Given the description of an element on the screen output the (x, y) to click on. 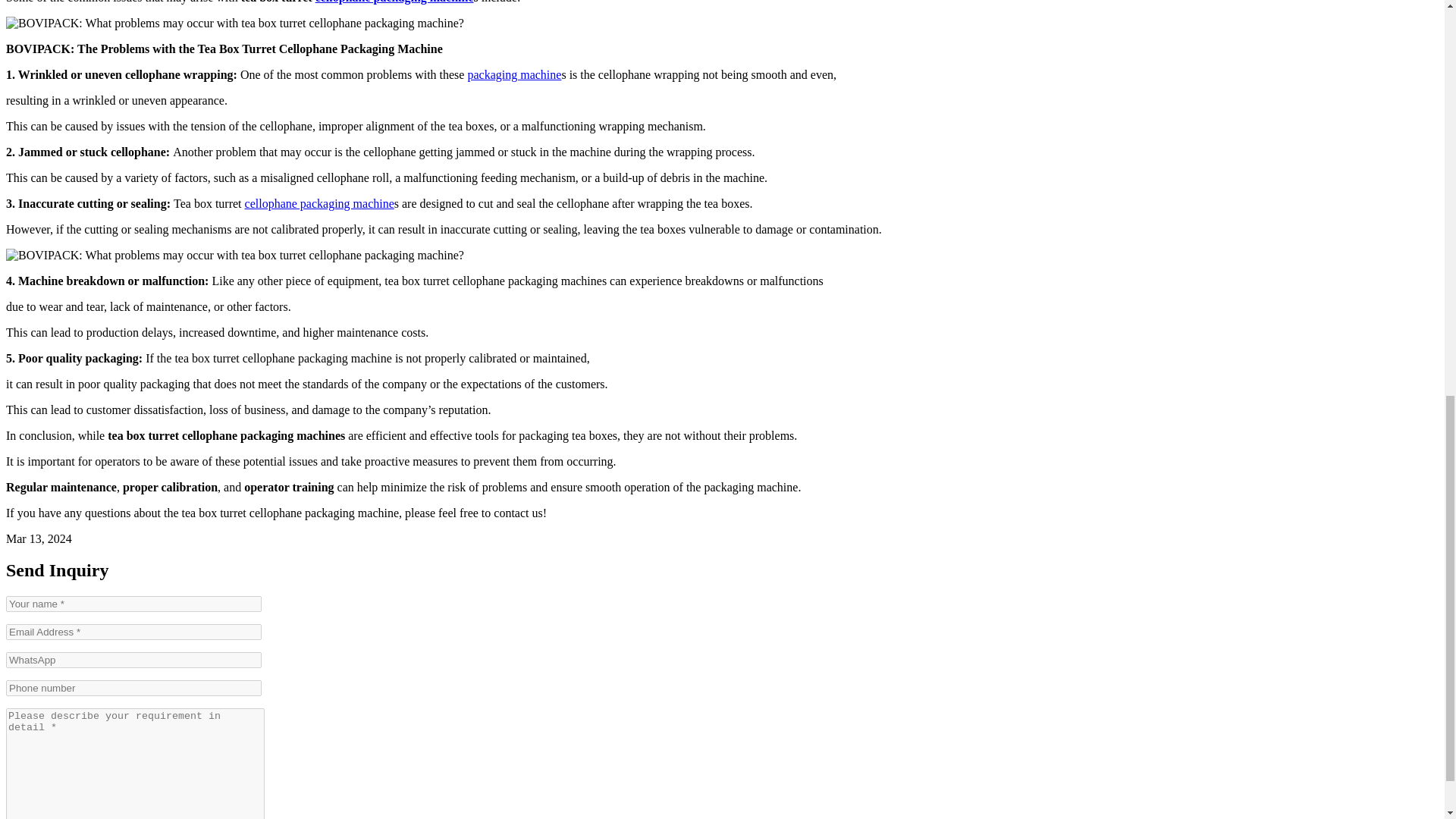
cellophane packaging machine (319, 203)
packaging machine (513, 74)
cellophane packaging machine (394, 2)
